Given the description of an element on the screen output the (x, y) to click on. 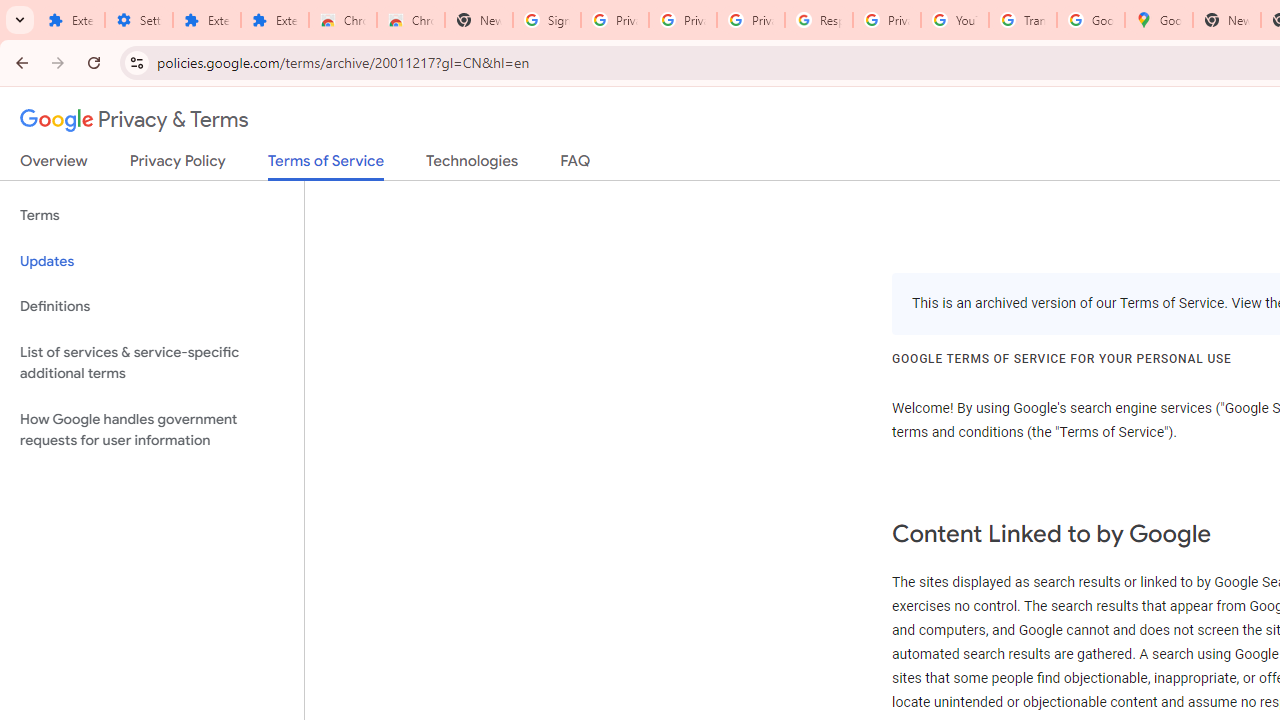
Chrome Web Store (342, 20)
YouTube (954, 20)
Extensions (274, 20)
Google Maps (1158, 20)
New Tab (479, 20)
Extensions (70, 20)
